Given the description of an element on the screen output the (x, y) to click on. 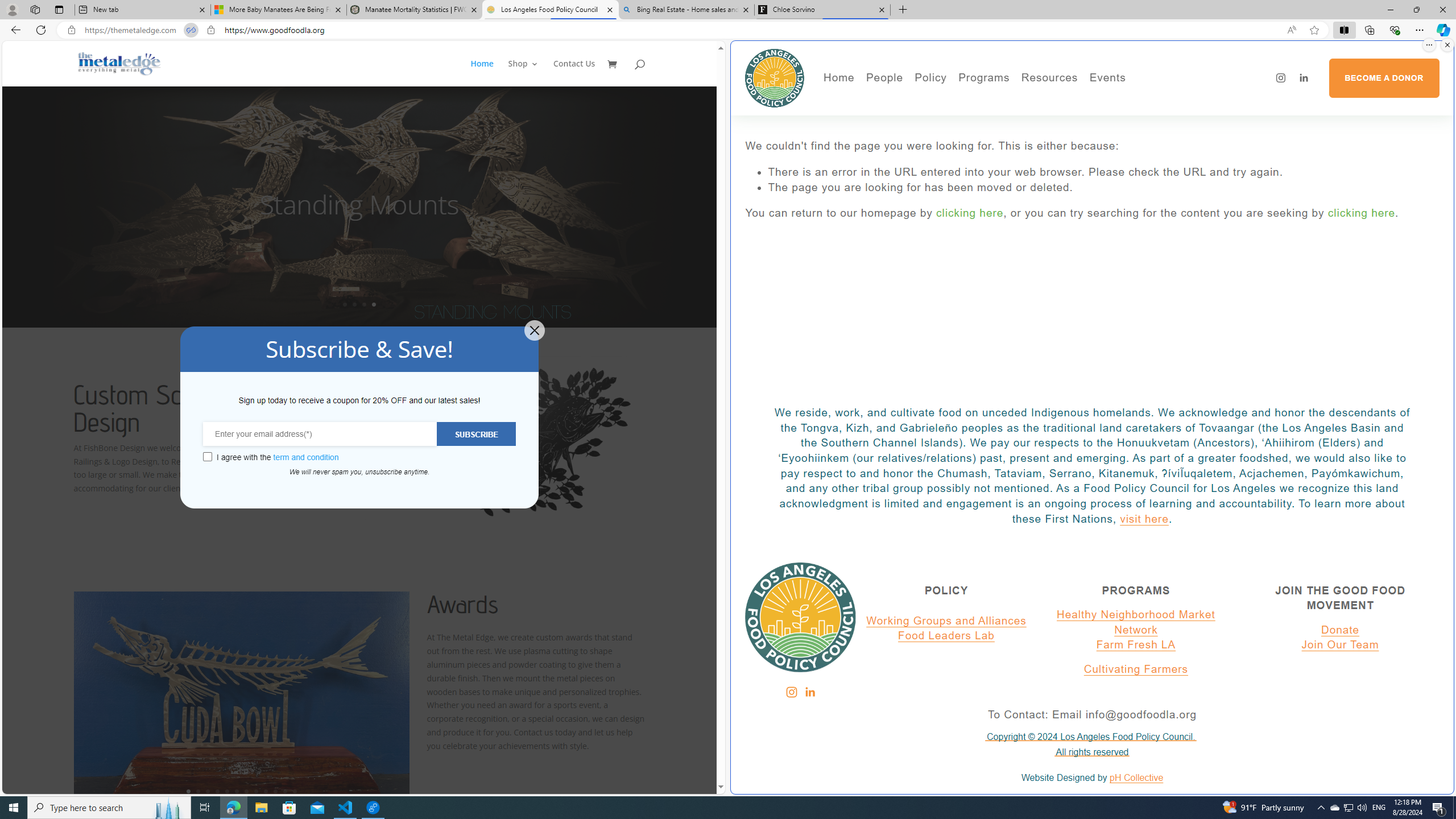
Food Leaders Lab (946, 636)
Chloe Sorvino (822, 9)
1 (188, 790)
Blog (922, 148)
Metal Fish Sculptures & Metal Designs (119, 63)
clicking here (1361, 213)
Healthy Neighborhood Market Network (1135, 622)
Shop 3 (523, 72)
Farm Fresh LA (1136, 645)
Settings and more (Alt+F) (1419, 29)
Los Angeles Food Policy Council (550, 9)
Restore (1416, 9)
Los Angeles Food Policy Council (774, 77)
Press (922, 132)
Copilot (Ctrl+Shift+.) (1442, 29)
